Given the description of an element on the screen output the (x, y) to click on. 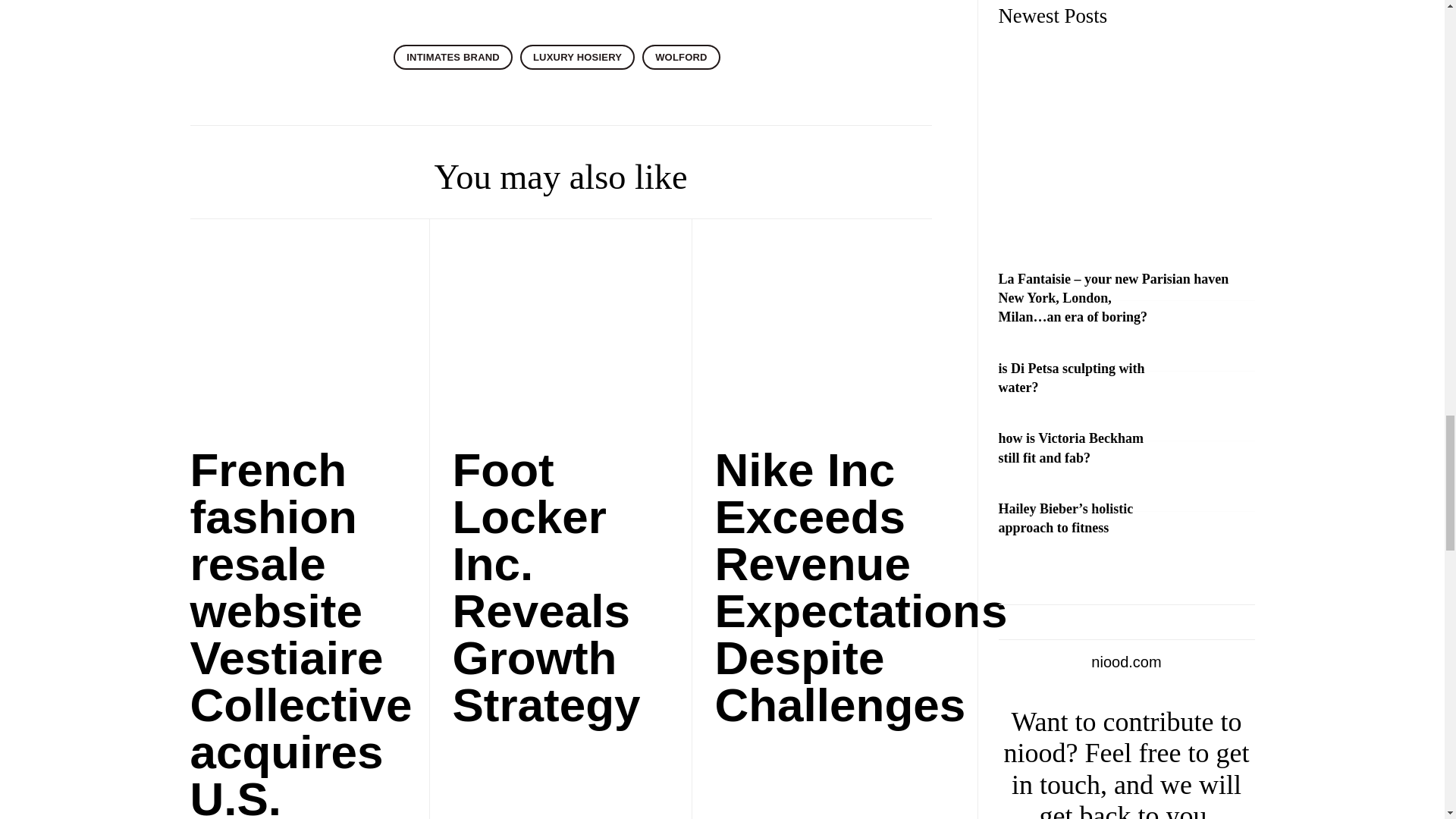
LUXURY HOSIERY (576, 57)
INTIMATES BRAND (452, 57)
WOLFORD (681, 57)
